Given the description of an element on the screen output the (x, y) to click on. 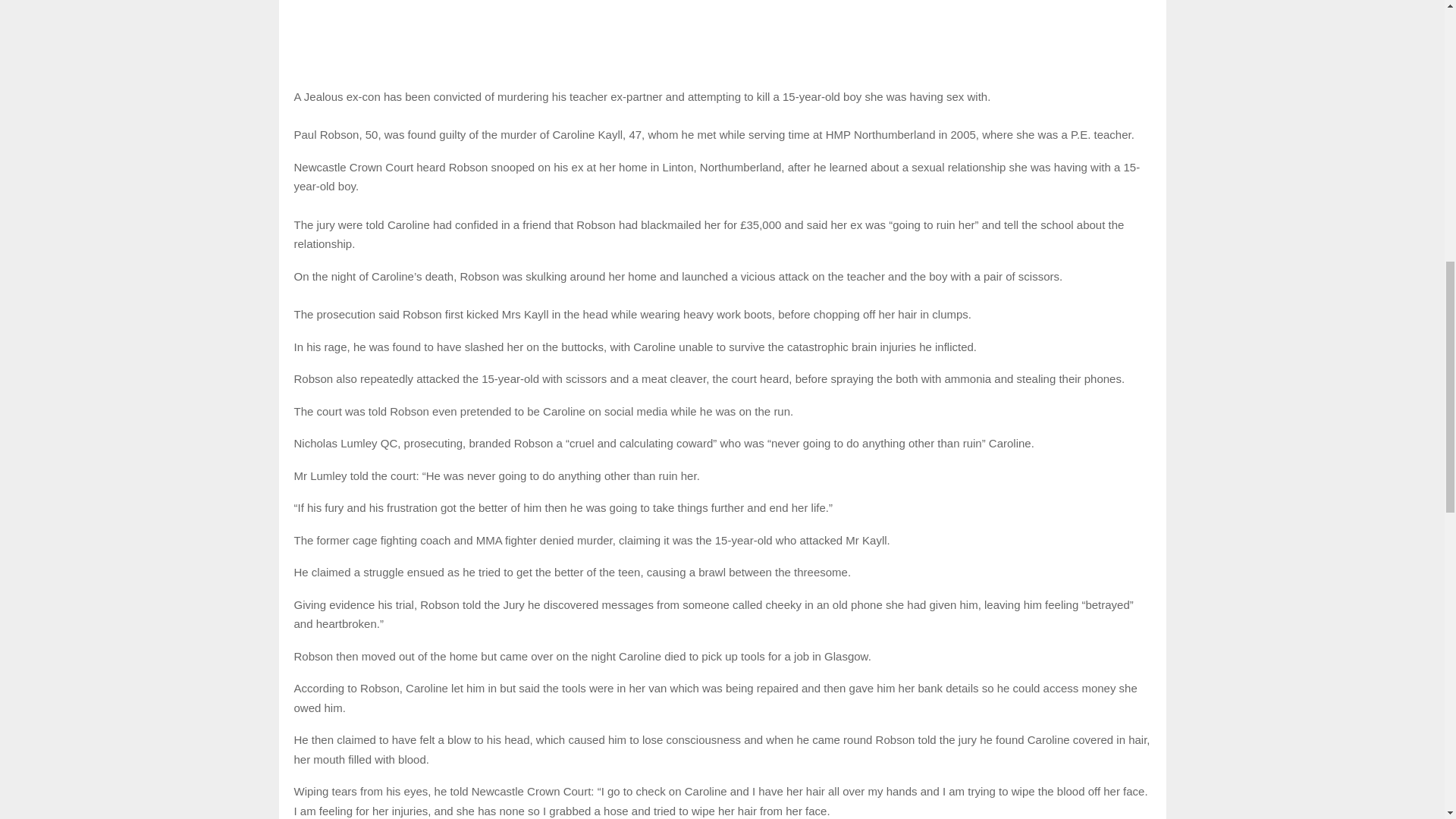
Advertisement (722, 35)
